Given the description of an element on the screen output the (x, y) to click on. 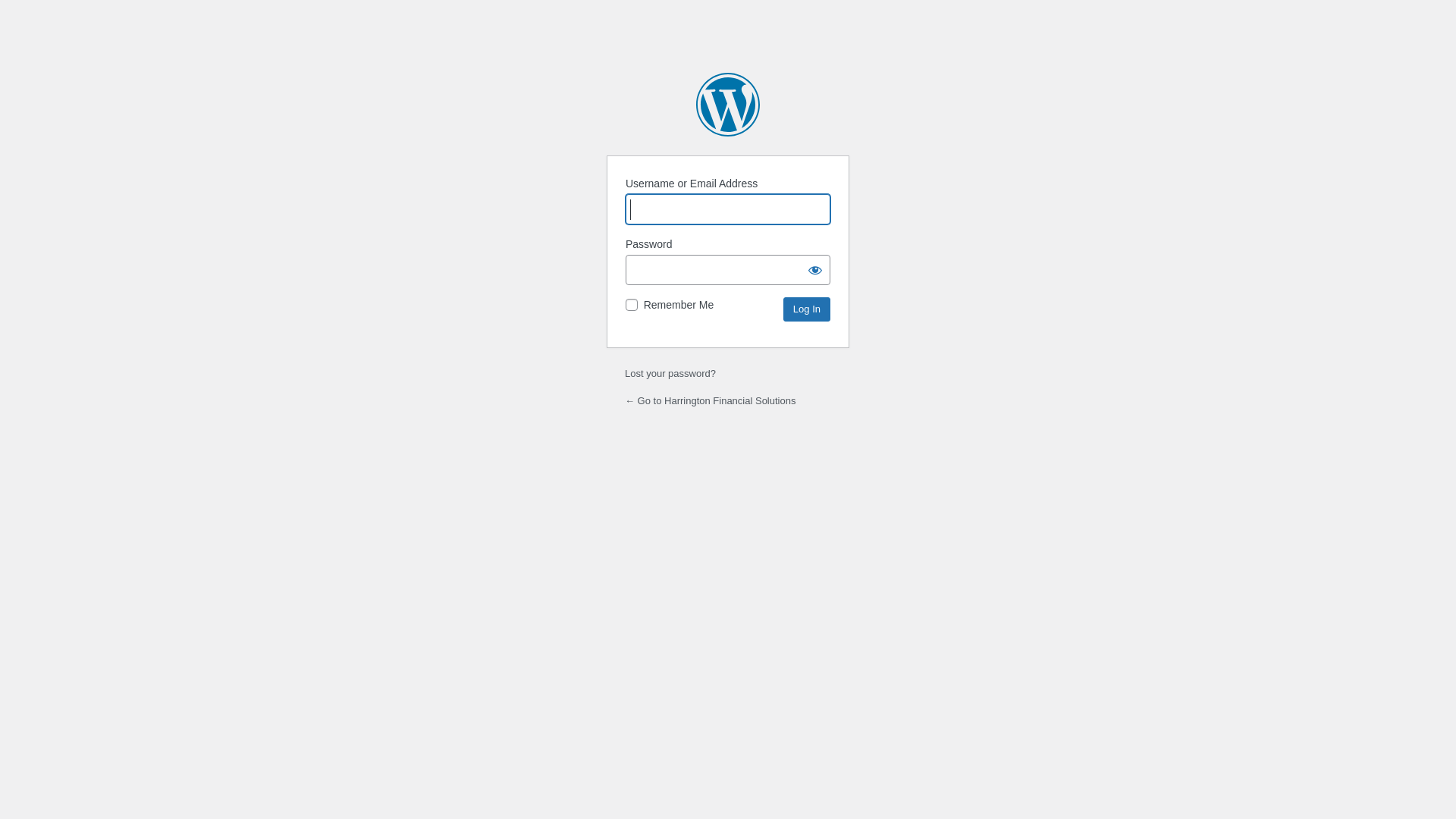
Lost your password? Element type: text (669, 373)
Powered by WordPress Element type: text (727, 104)
Log In Element type: text (806, 309)
